Given the description of an element on the screen output the (x, y) to click on. 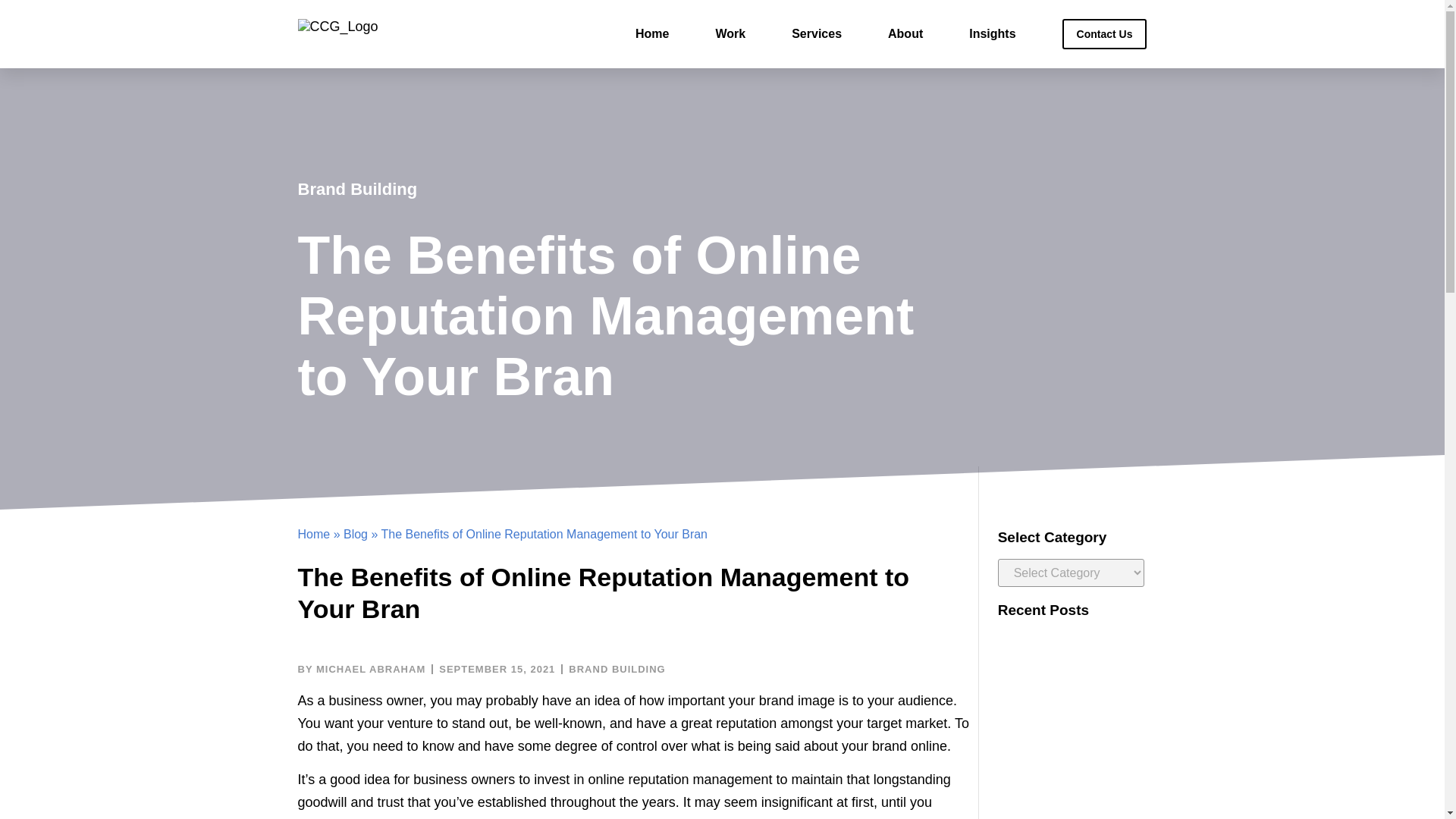
MICHAEL ABRAHAM (361, 669)
Services (816, 33)
Contact Us (1104, 33)
Home (313, 533)
Blog (355, 533)
Home (651, 33)
Brand Building (356, 189)
Insights (991, 33)
About (905, 33)
BRAND BUILDING (617, 668)
